Given the description of an element on the screen output the (x, y) to click on. 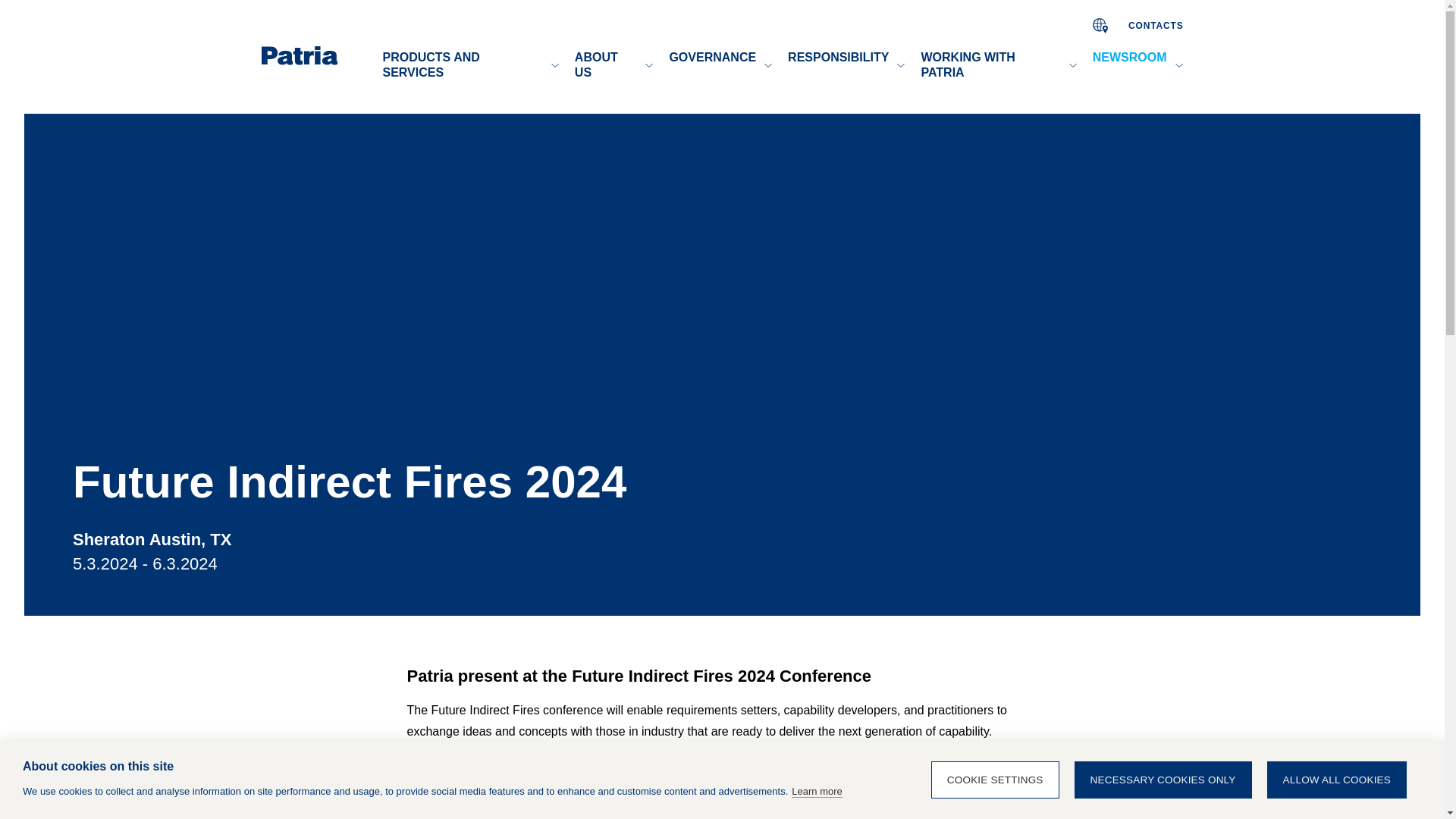
CONTACTS (1155, 24)
PRODUCTS AND SERVICES (458, 64)
ABOUT US (602, 64)
